Given the description of an element on the screen output the (x, y) to click on. 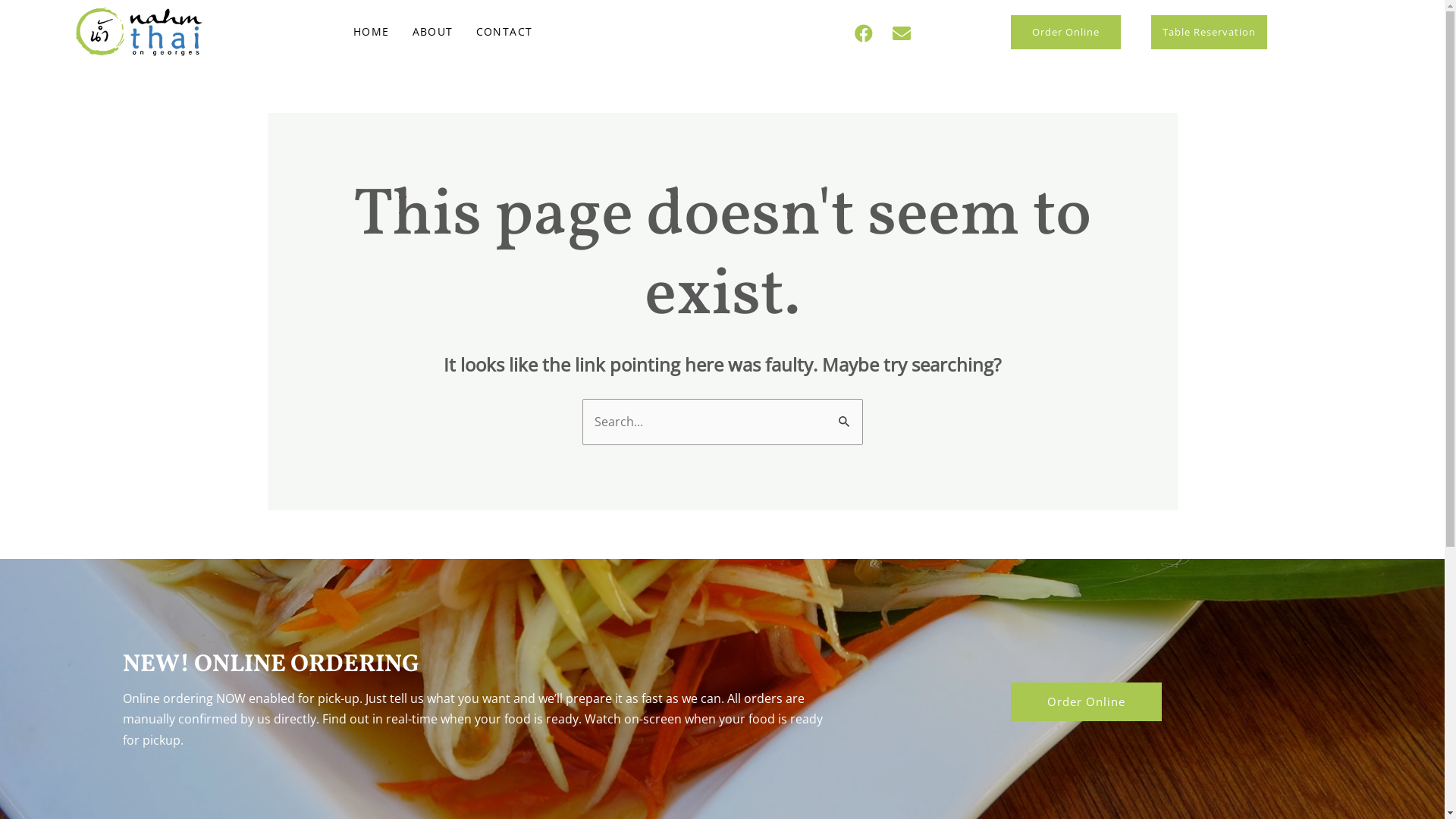
Envelope Element type: text (901, 32)
ABOUT Element type: text (432, 31)
CONTACT Element type: text (504, 31)
HOME Element type: text (371, 31)
Facebook Element type: text (862, 32)
Table Reservation Element type: text (1209, 32)
Search Element type: text (845, 414)
Order Online Element type: text (1085, 701)
Order Online Element type: text (1065, 32)
